Given the description of an element on the screen output the (x, y) to click on. 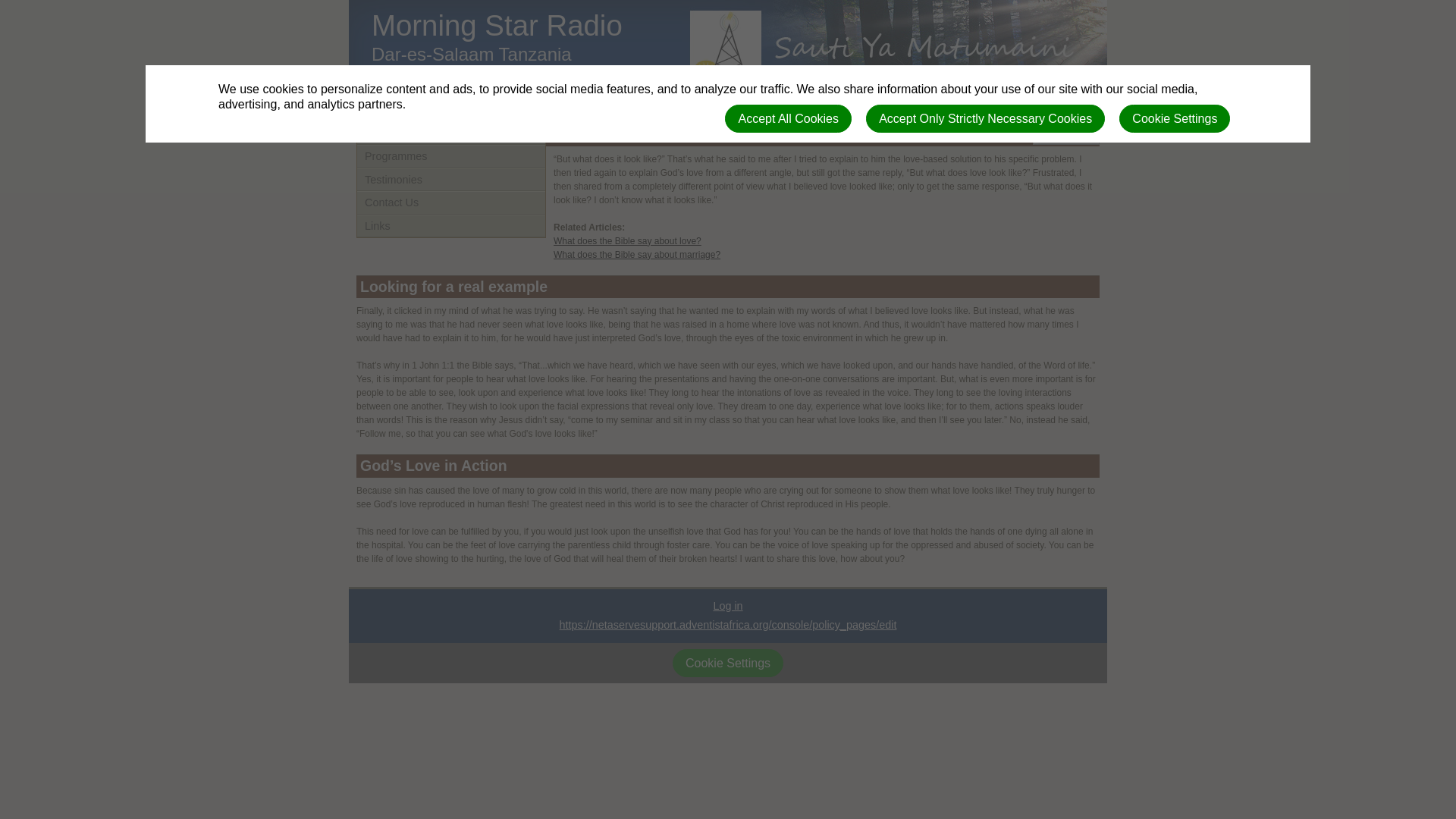
Log in (727, 604)
Home (450, 133)
Testimonies (450, 179)
Contact Us (450, 201)
What does the Bible say about love? (627, 240)
Links (450, 225)
Programmes (450, 155)
What does the Bible say about marriage? (636, 253)
